Given the description of an element on the screen output the (x, y) to click on. 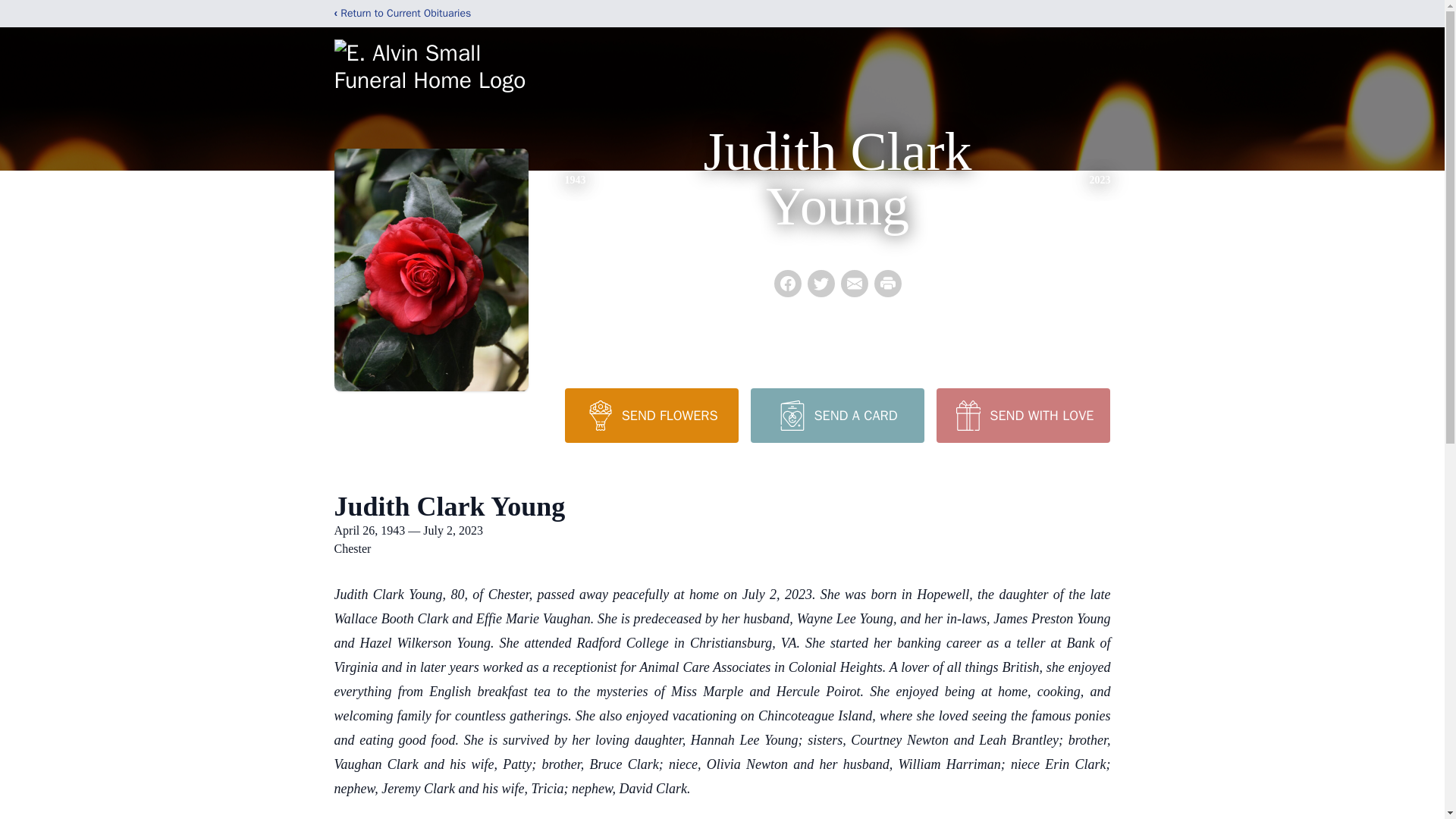
SEND FLOWERS (651, 415)
SEND WITH LOVE (1022, 415)
SEND A CARD (837, 415)
